Given the description of an element on the screen output the (x, y) to click on. 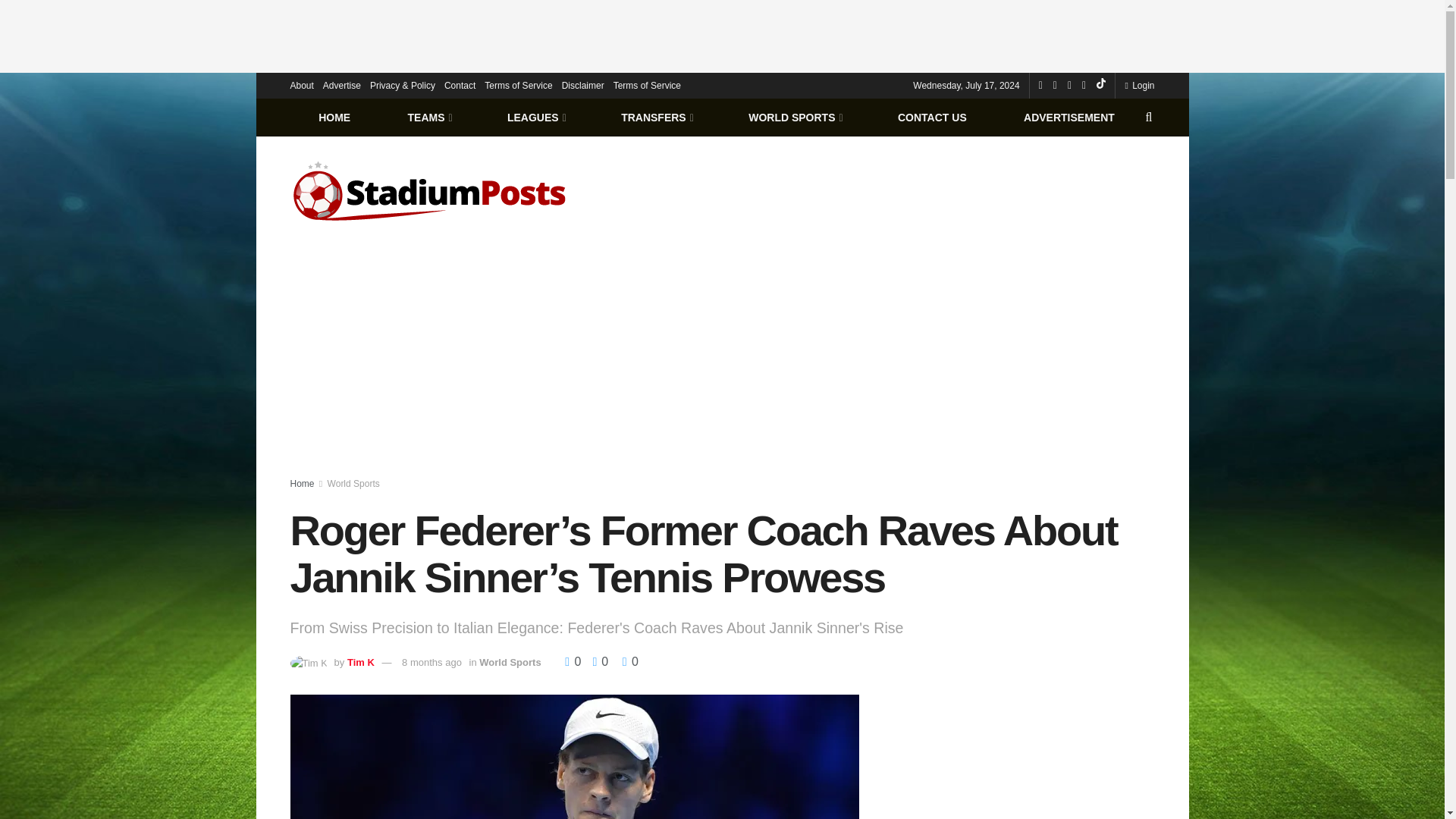
Advertisement (1023, 756)
Login (1139, 85)
TRANSFERS (655, 117)
About (301, 85)
WORLD SPORTS (794, 117)
Advertisement (722, 33)
ADVERTISEMENT (1068, 117)
Advertise (342, 85)
Terms of Service (646, 85)
Terms of Service (517, 85)
Contact (460, 85)
CONTACT US (931, 117)
Disclaimer (583, 85)
LEAGUES (535, 117)
